Given the description of an element on the screen output the (x, y) to click on. 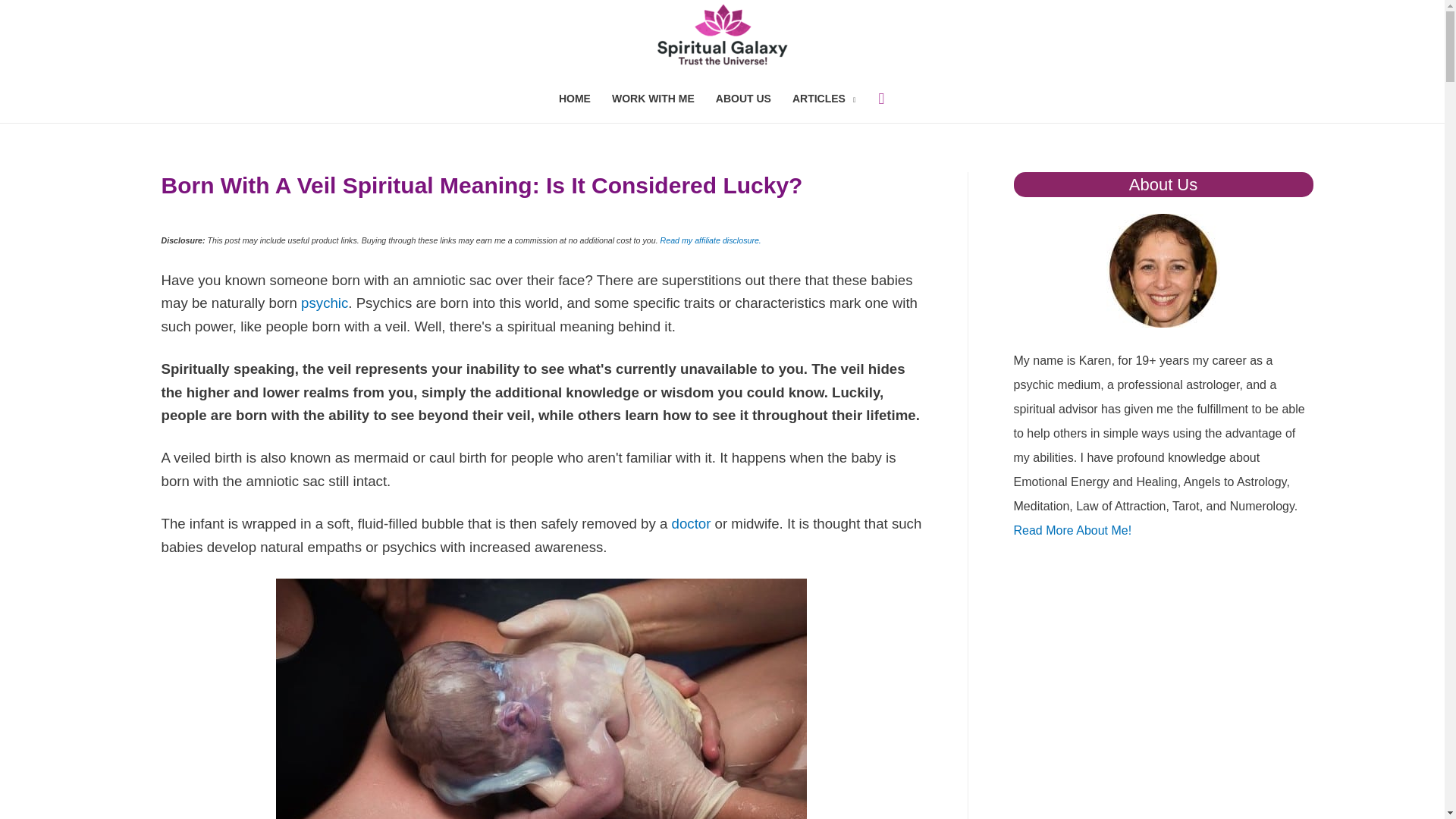
Search (33, 16)
WORK WITH ME (652, 97)
psychic (324, 302)
ARTICLES (823, 97)
ABOUT US (742, 97)
HOME (574, 97)
doctor (691, 523)
Read my affiliate disclosure. (711, 239)
